Given the description of an element on the screen output the (x, y) to click on. 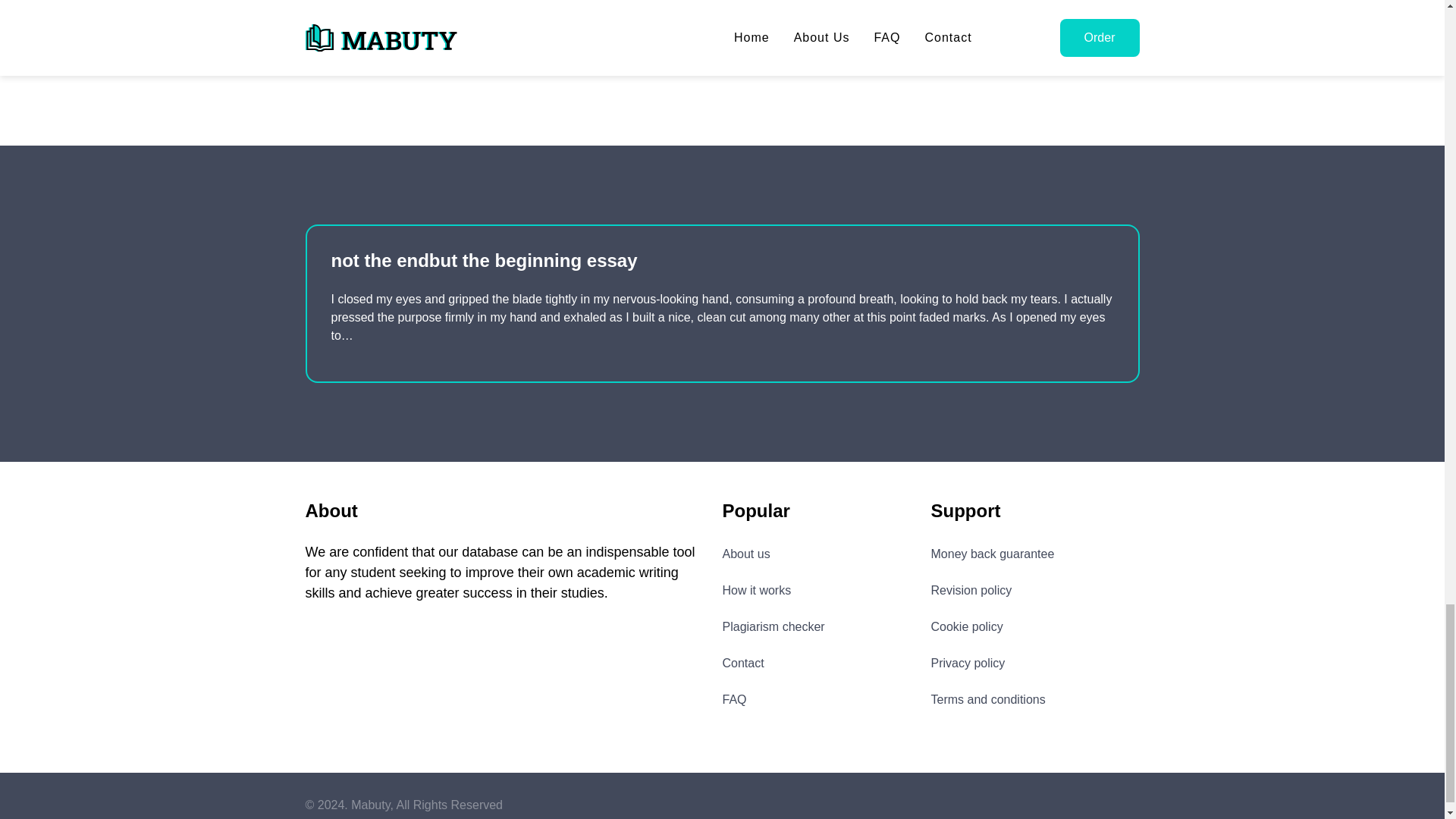
Privacy policy (968, 662)
Money back guarantee (992, 553)
engineering (344, 55)
Cookie policy (967, 626)
About us (746, 553)
Plagiarism checker (773, 626)
Contact (742, 662)
Revision policy (971, 589)
essay (417, 55)
Terms and conditions (988, 699)
